Given the description of an element on the screen output the (x, y) to click on. 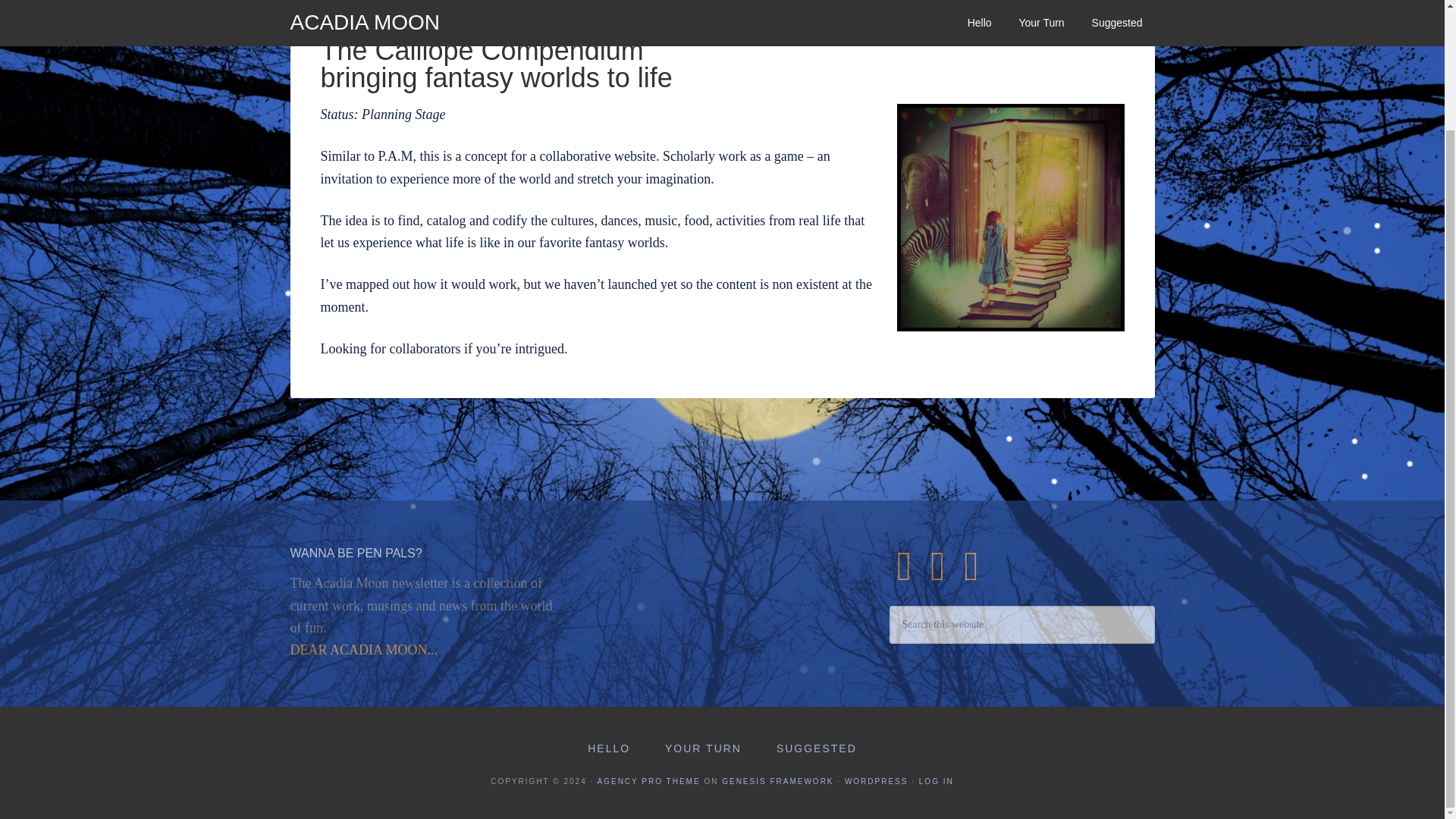
SUGGESTED (816, 748)
WORDPRESS (876, 781)
LOG IN (935, 781)
DEAR ACADIA MOON... (363, 649)
YOUR TURN (703, 748)
GENESIS FRAMEWORK (777, 781)
HELLO (608, 748)
AGENCY PRO THEME (648, 781)
